Given the description of an element on the screen output the (x, y) to click on. 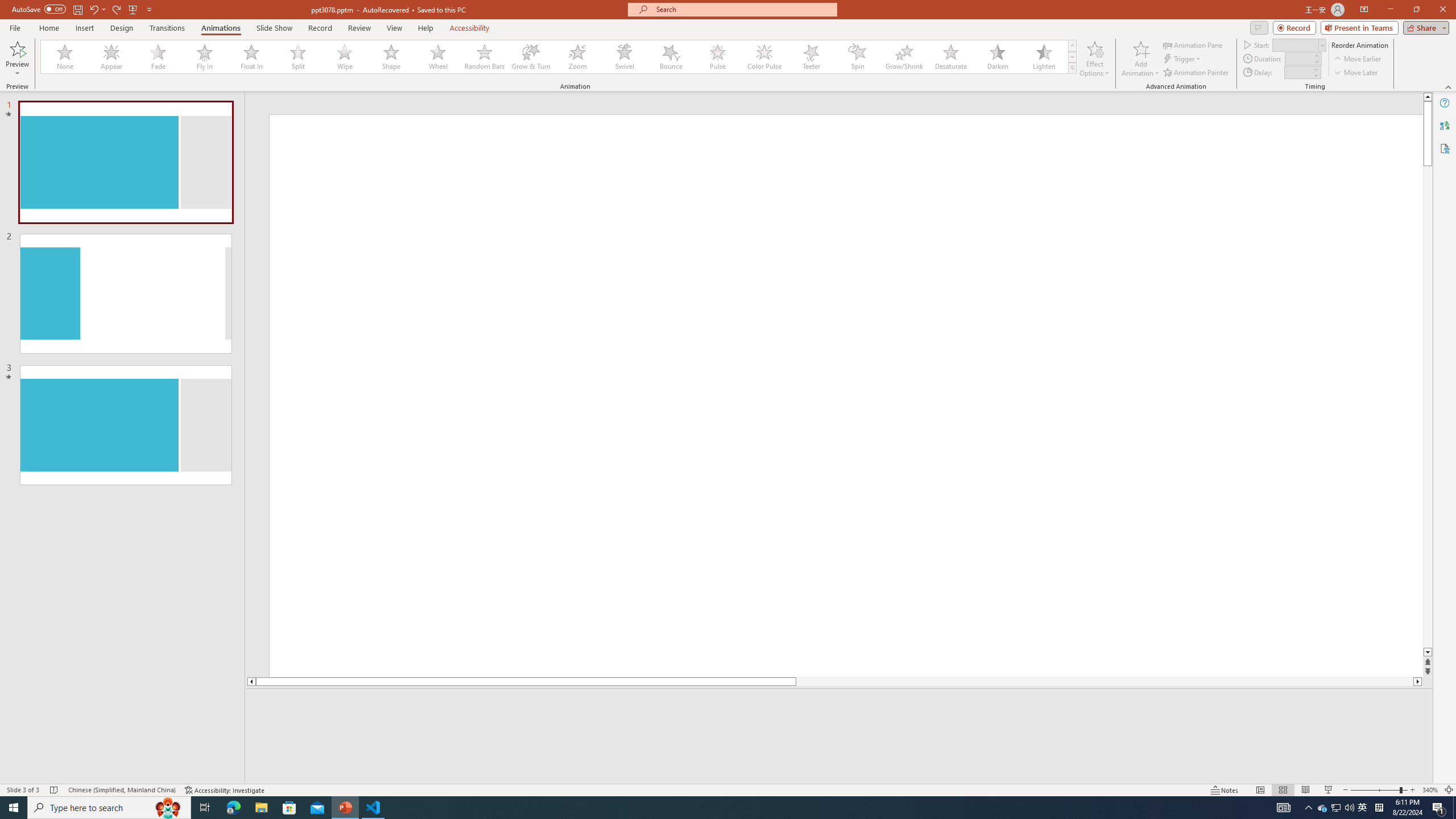
Shape (391, 56)
Start (1299, 44)
Line down (1427, 652)
Zoom 340% (1430, 790)
Slide Notes (839, 705)
Random Bars (484, 56)
Teeter (810, 56)
Row up (1071, 45)
Line up (1427, 96)
